Given the description of an element on the screen output the (x, y) to click on. 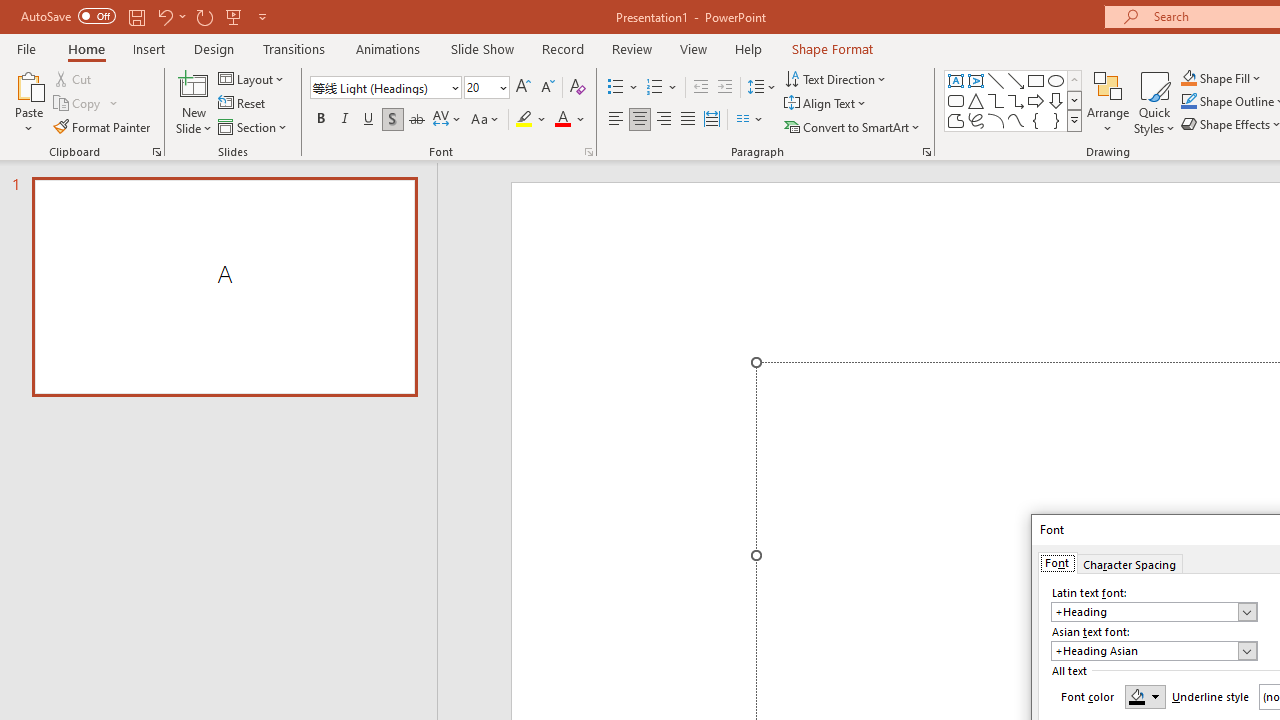
Text Highlight Color (531, 119)
Font (1057, 562)
Row Down (1074, 100)
Latin text font (1144, 611)
Paste (28, 84)
Font Color (569, 119)
Font color RGB(0, 0, 0) (1145, 696)
Oval (1055, 80)
Copy (78, 103)
Font (379, 87)
